Given the description of an element on the screen output the (x, y) to click on. 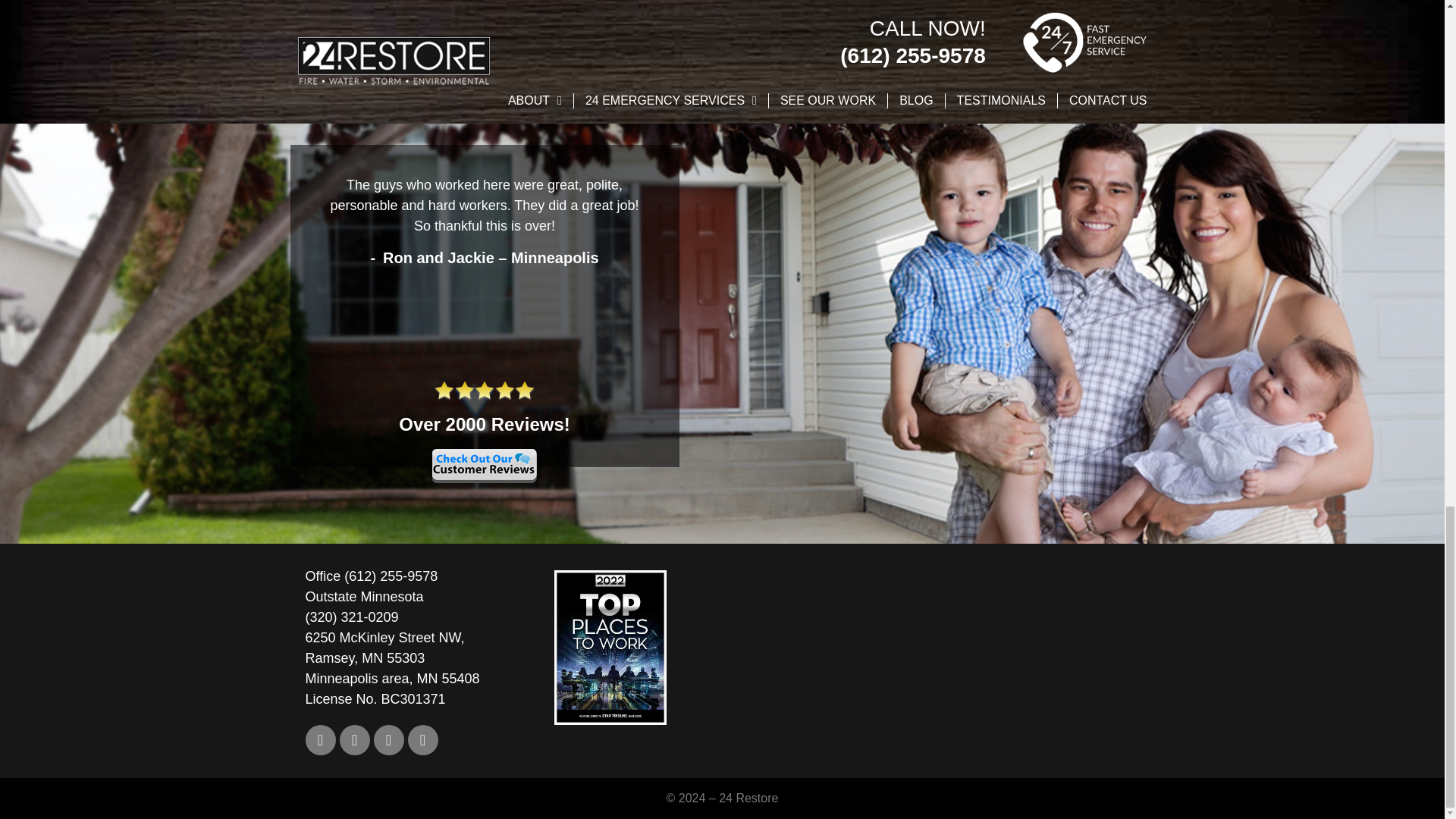
fb:page Facebook Social Plugin (1017, 657)
